Given the description of an element on the screen output the (x, y) to click on. 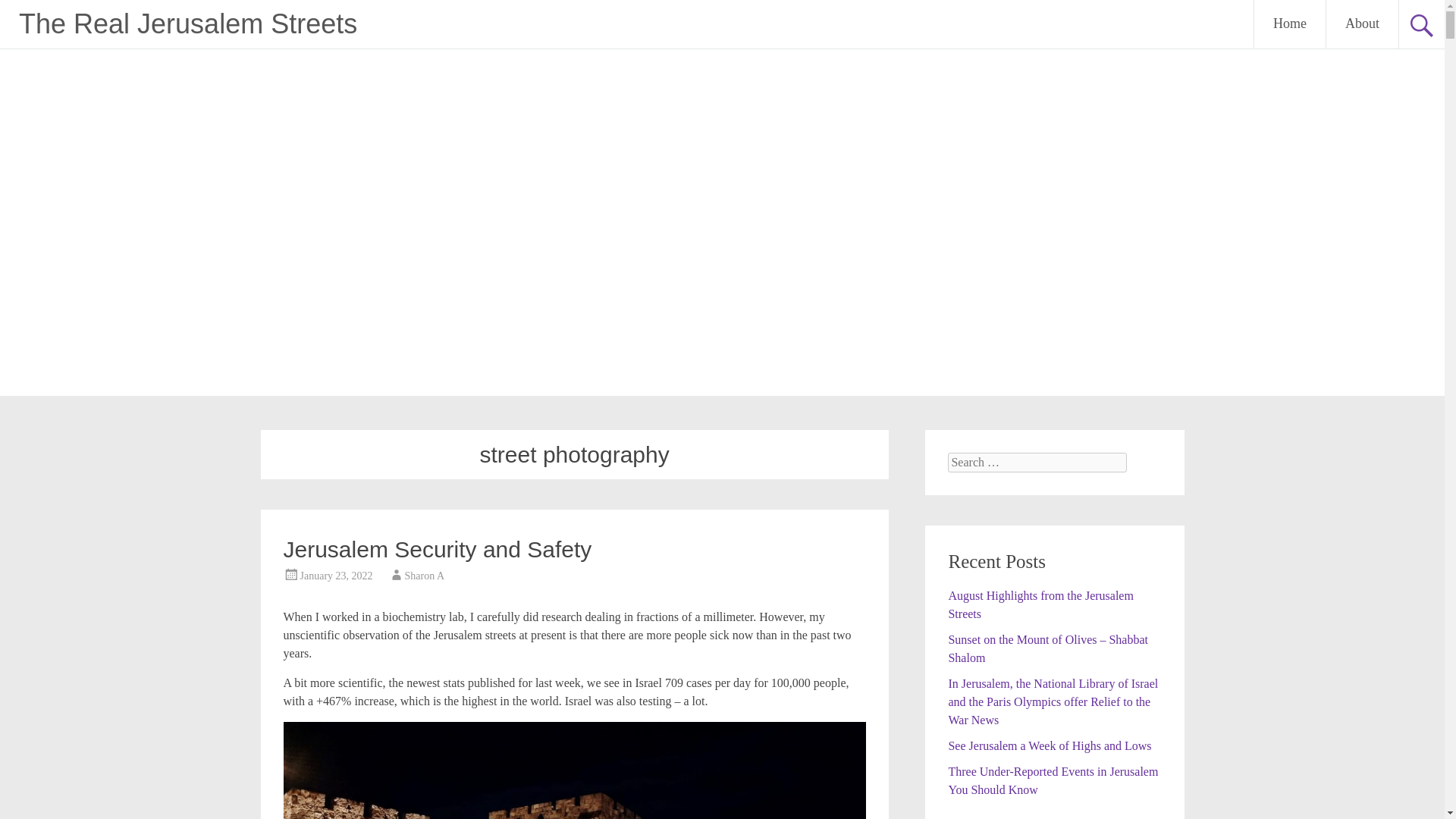
Jerusalem Security and Safety (437, 549)
About (1361, 23)
The Real Jerusalem Streets (187, 23)
Home (1288, 23)
The Real Jerusalem Streets (187, 23)
January 23, 2022 (335, 575)
Sharon A (424, 575)
